Given the description of an element on the screen output the (x, y) to click on. 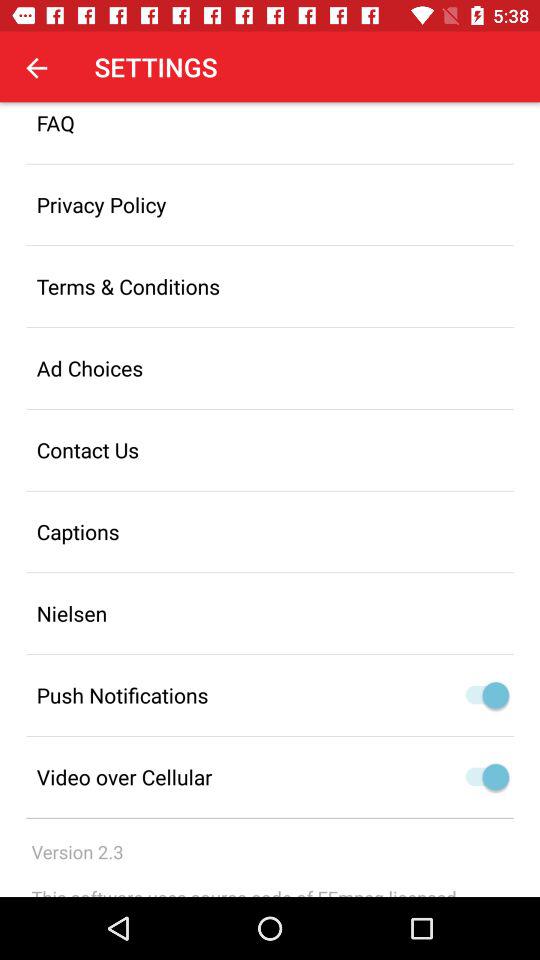
select the item above this software uses item (77, 851)
